Given the description of an element on the screen output the (x, y) to click on. 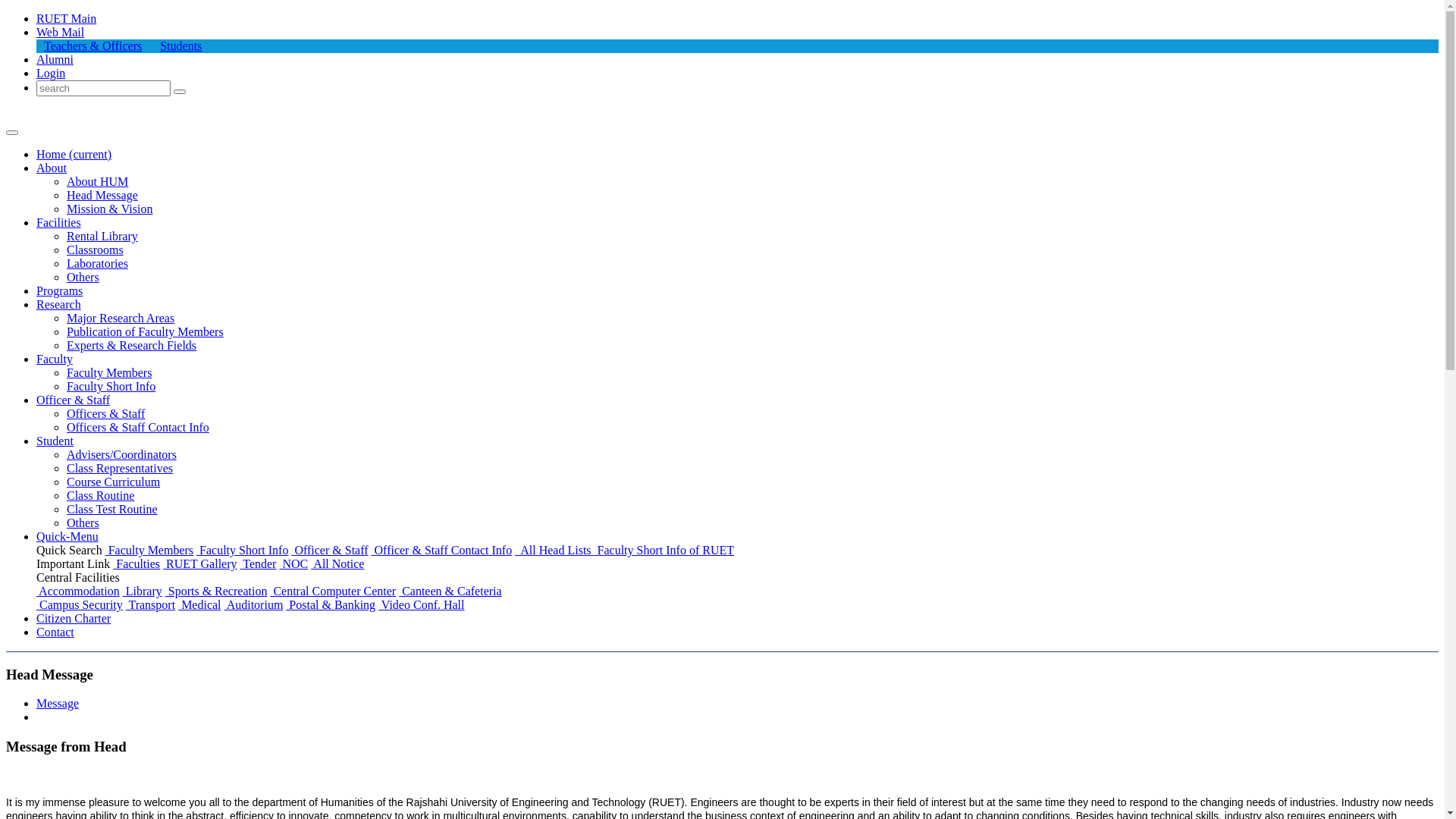
Classrooms Element type: text (94, 249)
Citizen Charter Element type: text (73, 617)
 Campus Security Element type: text (79, 604)
Others Element type: text (82, 522)
 Faculty Members Element type: text (149, 549)
 NOC Element type: text (293, 563)
Research Element type: text (58, 304)
 Officer & Staff Element type: text (329, 549)
 RUET Gallery Element type: text (199, 563)
Publication of Faculty Members Element type: text (144, 331)
  All Head Lists Element type: text (553, 549)
Alumni Element type: text (54, 59)
Faculty Short Info Element type: text (110, 385)
Mission & Vision Element type: text (109, 208)
 Faculty Short Info of RUET Element type: text (664, 549)
 Tender Element type: text (258, 563)
 Transport Element type: text (150, 604)
RUET Main Element type: text (66, 18)
Head Message Element type: text (102, 194)
Faculty Members Element type: text (108, 372)
 Library Element type: text (142, 590)
 Faculty Short Info Element type: text (242, 549)
Web Mail Element type: text (60, 31)
Quick-Menu Element type: text (67, 536)
Message Element type: text (57, 702)
Class Representatives Element type: text (119, 467)
 Video Conf. Hall Element type: text (421, 604)
Login Element type: text (50, 72)
Class Routine Element type: text (100, 495)
Laboratories Element type: text (97, 263)
 Sports & Recreation Element type: text (216, 590)
Rental Library Element type: text (102, 235)
Student Element type: text (54, 440)
Course Curriculum Element type: text (113, 481)
Home (current) Element type: text (73, 153)
 Accommodation Element type: text (77, 590)
About Element type: text (51, 167)
Others Element type: text (82, 276)
 Medical Element type: text (199, 604)
Facilities Element type: text (58, 222)
 Central Computer Center Element type: text (332, 590)
Advisers/Coordinators Element type: text (121, 454)
Class Test Routine Element type: text (111, 508)
Teachers & Officers Element type: text (92, 45)
Officer & Staff Element type: text (72, 399)
 Auditorium Element type: text (253, 604)
Contact Element type: text (55, 631)
 Faculties Element type: text (136, 563)
 Officer & Staff Contact Info Element type: text (441, 549)
Officers & Staff Contact Info Element type: text (137, 426)
Major Research Areas Element type: text (120, 317)
About HUM Element type: text (97, 181)
Students Element type: text (180, 45)
Officers & Staff Element type: text (105, 413)
 Canteen & Cafeteria Element type: text (450, 590)
 Postal & Banking Element type: text (330, 604)
 All Notice Element type: text (337, 563)
Faculty Element type: text (54, 358)
Experts & Research Fields Element type: text (131, 344)
Programs Element type: text (59, 290)
